Given the description of an element on the screen output the (x, y) to click on. 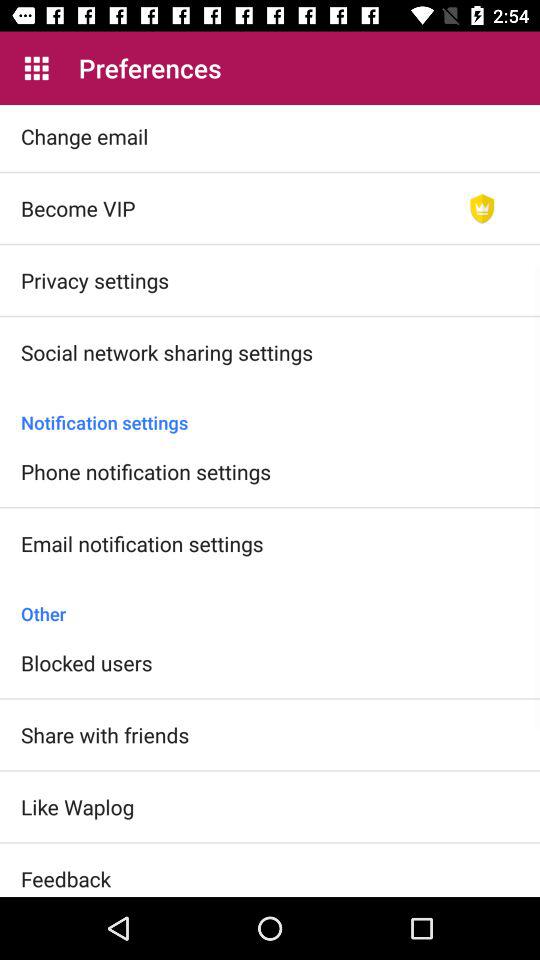
swipe to share with friends item (105, 734)
